Given the description of an element on the screen output the (x, y) to click on. 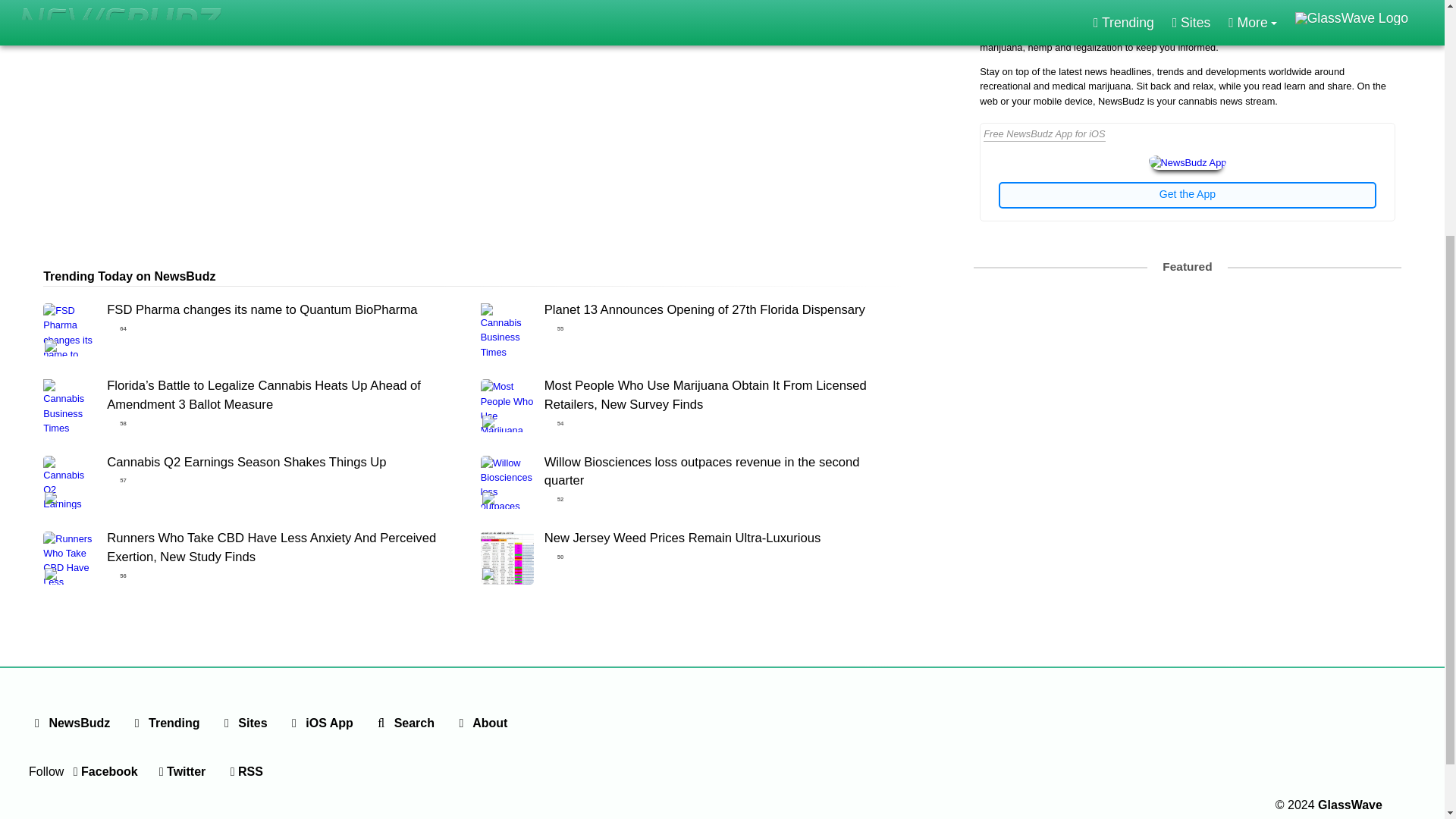
Green Market Report (1186, 315)
NewsBudz Cannabis iOS App (1187, 162)
MJBizDaily (995, 315)
